Given the description of an element on the screen output the (x, y) to click on. 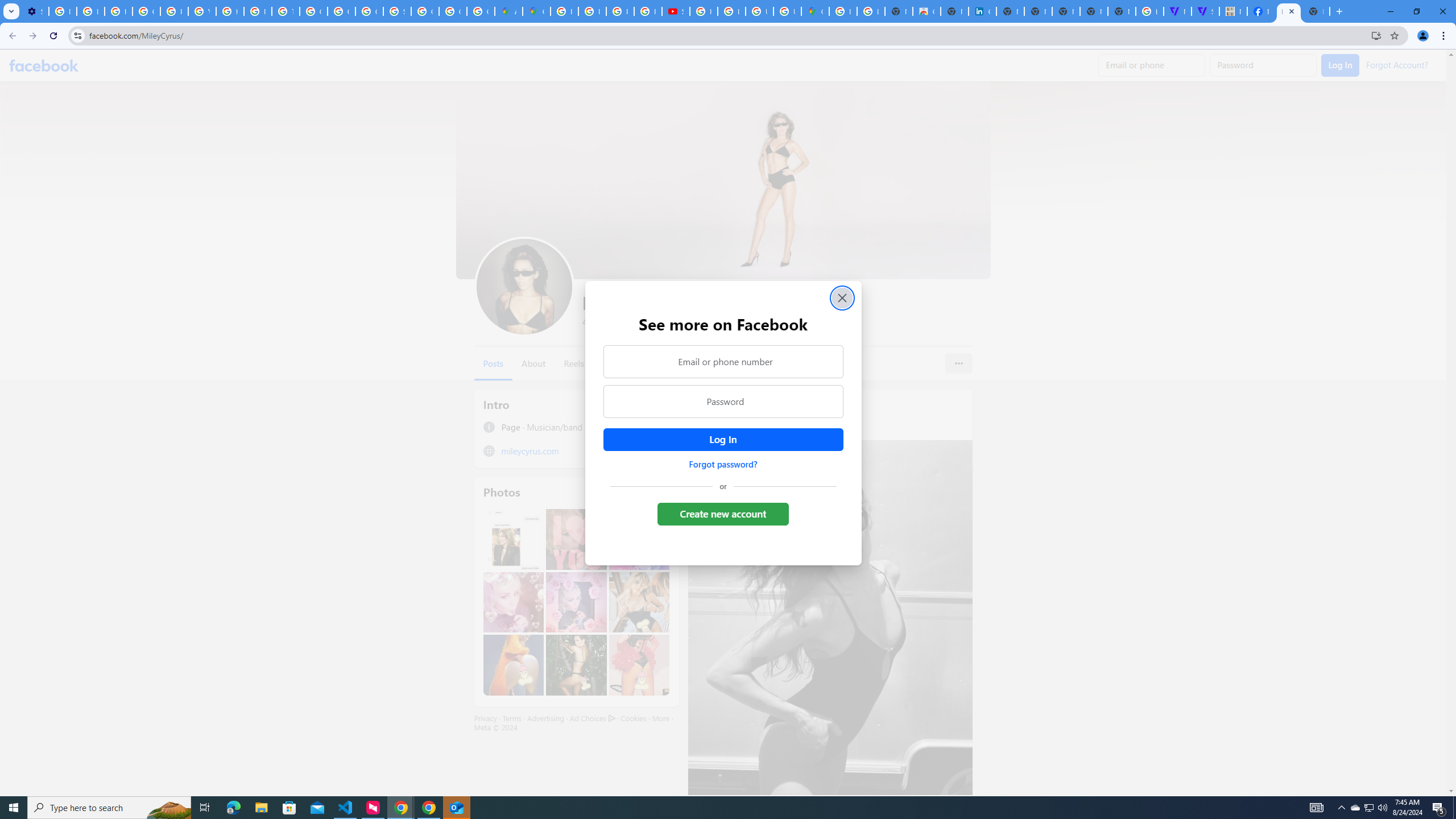
Email or phone number (722, 361)
Delete photos & videos - Computer - Google Photos Help (62, 11)
Email or phone (1151, 65)
Forgot password? (722, 463)
